Given the description of an element on the screen output the (x, y) to click on. 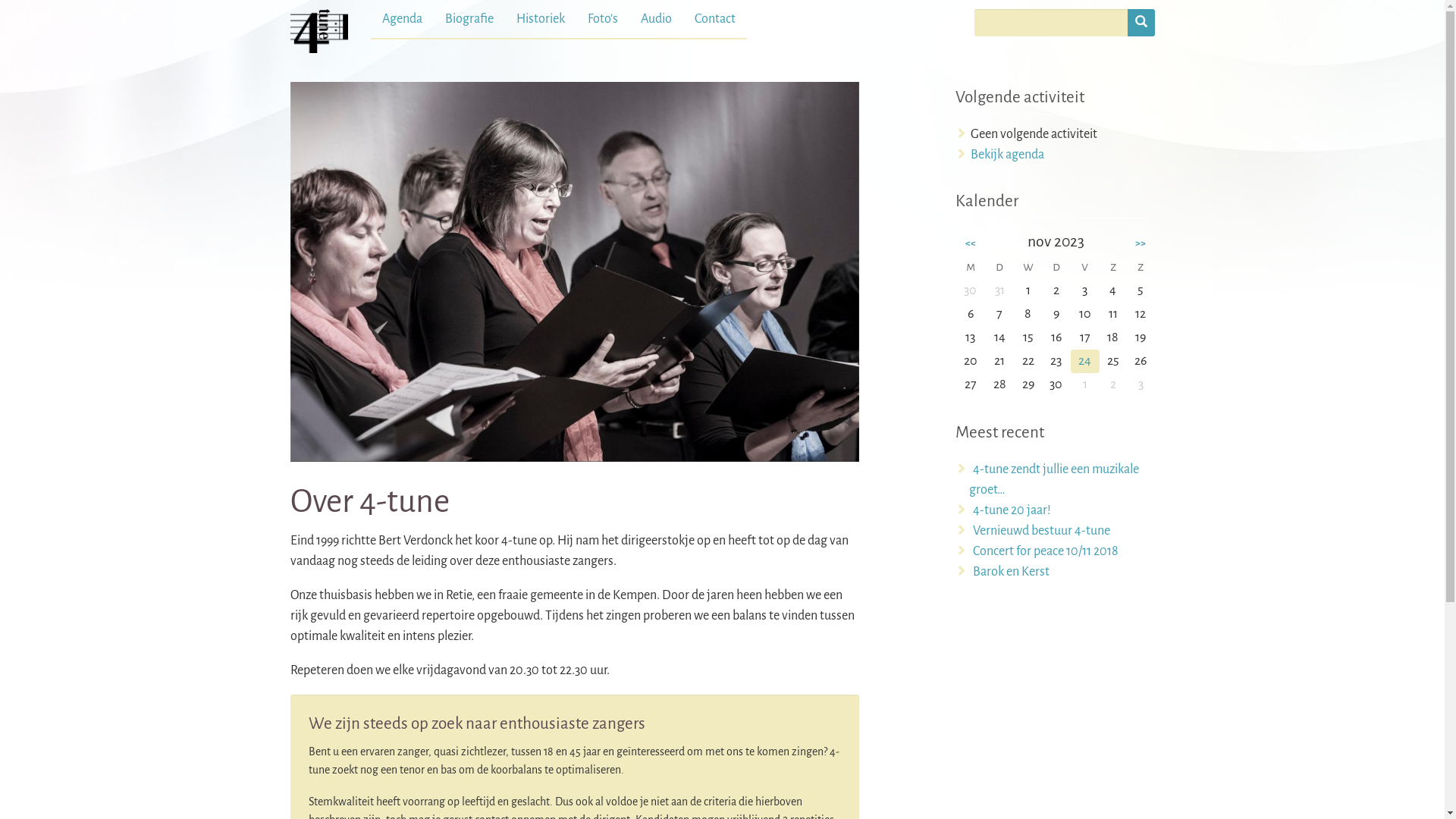
Zoeken Element type: hover (1140, 22)
Naar de inhoud springen Element type: text (353, 10)
Concert for peace 10/11 2018 Element type: text (1045, 551)
Agenda Element type: text (401, 18)
Biografie Element type: text (469, 18)
>> Element type: text (1140, 243)
<< Element type: text (970, 243)
Bekijk agenda Element type: text (1007, 154)
Historiek Element type: text (540, 18)
Audio Element type: text (656, 18)
Vernieuwd bestuur 4-tune Element type: text (1041, 530)
Barok en Kerst Element type: text (1010, 571)
4-tune 20 jaar! Element type: text (1011, 510)
Volgende Element type: text (816, 271)
Contact Element type: text (714, 18)
Vorige Element type: text (332, 271)
